Given the description of an element on the screen output the (x, y) to click on. 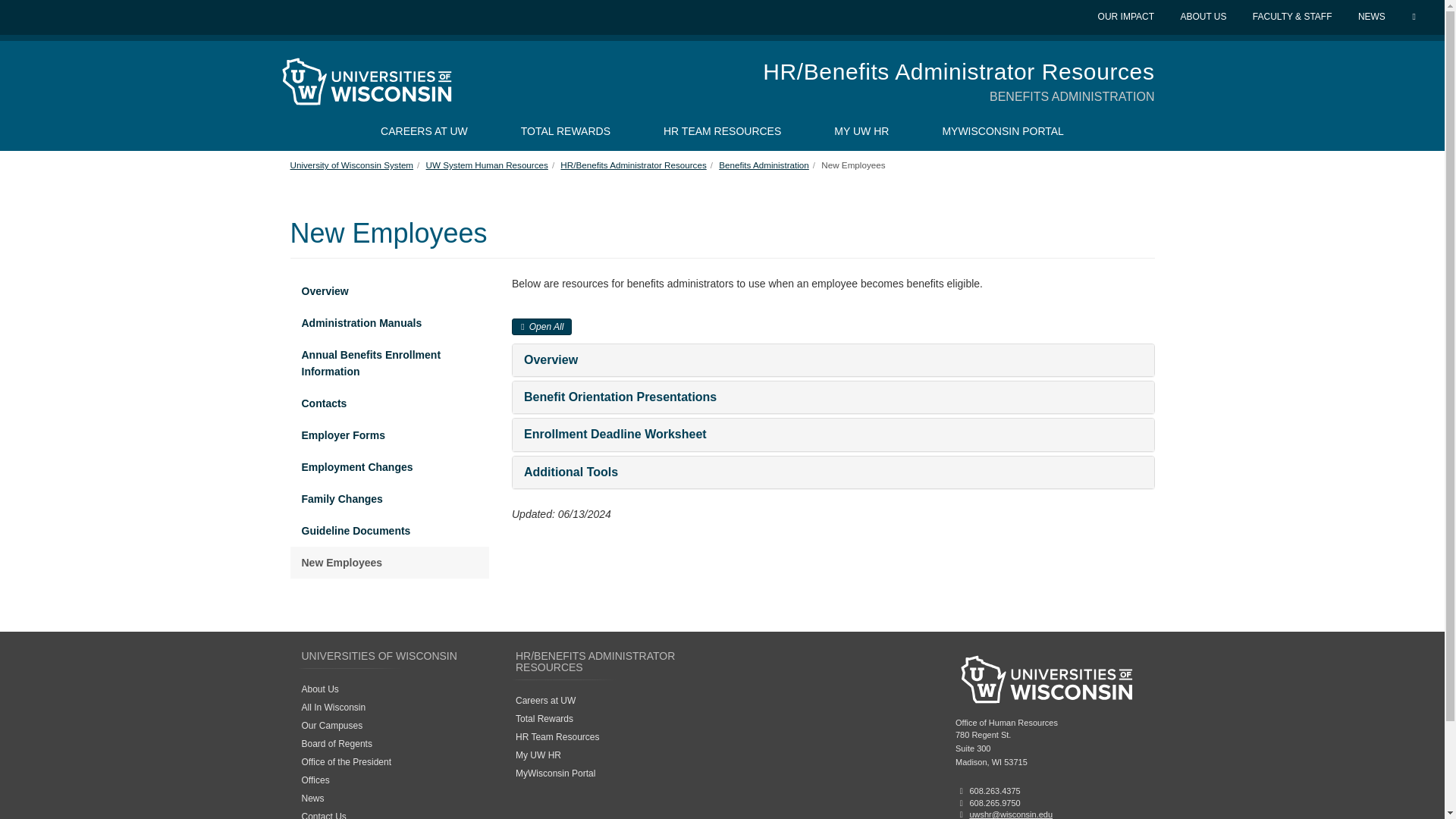
HR TEAM RESOURCES (722, 130)
UW System Human Resources (487, 164)
University of Wisconsin System (351, 164)
CAREERS AT UW (424, 130)
SEARCH (1415, 16)
MYWISCONSIN PORTAL (1002, 130)
MY UW HR (860, 130)
OUR IMPACT (1127, 16)
ABOUT US (1204, 16)
NEWS (1373, 16)
TOTAL REWARDS (565, 130)
